Given the description of an element on the screen output the (x, y) to click on. 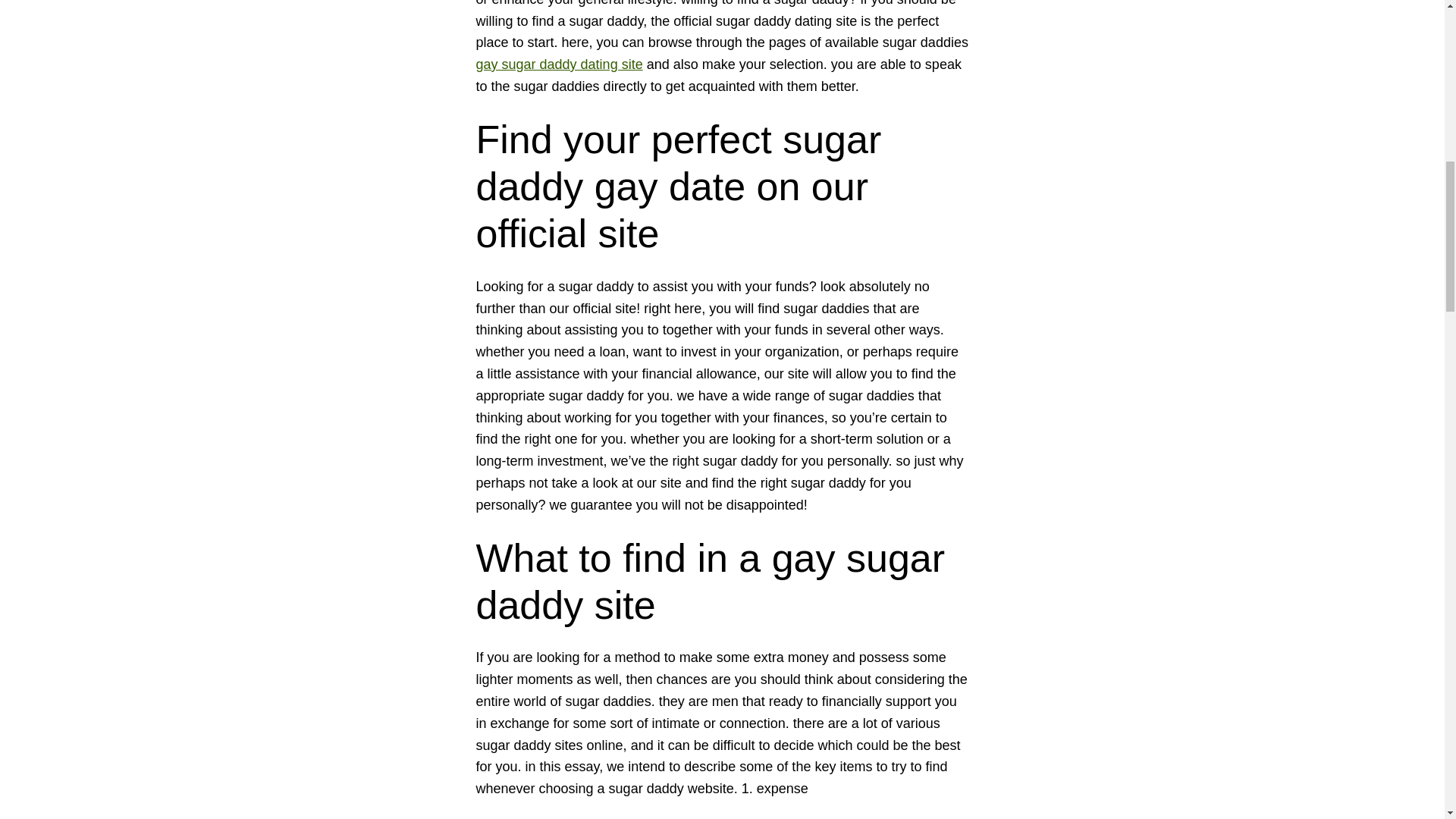
gay sugar daddy dating site (559, 64)
